Given the description of an element on the screen output the (x, y) to click on. 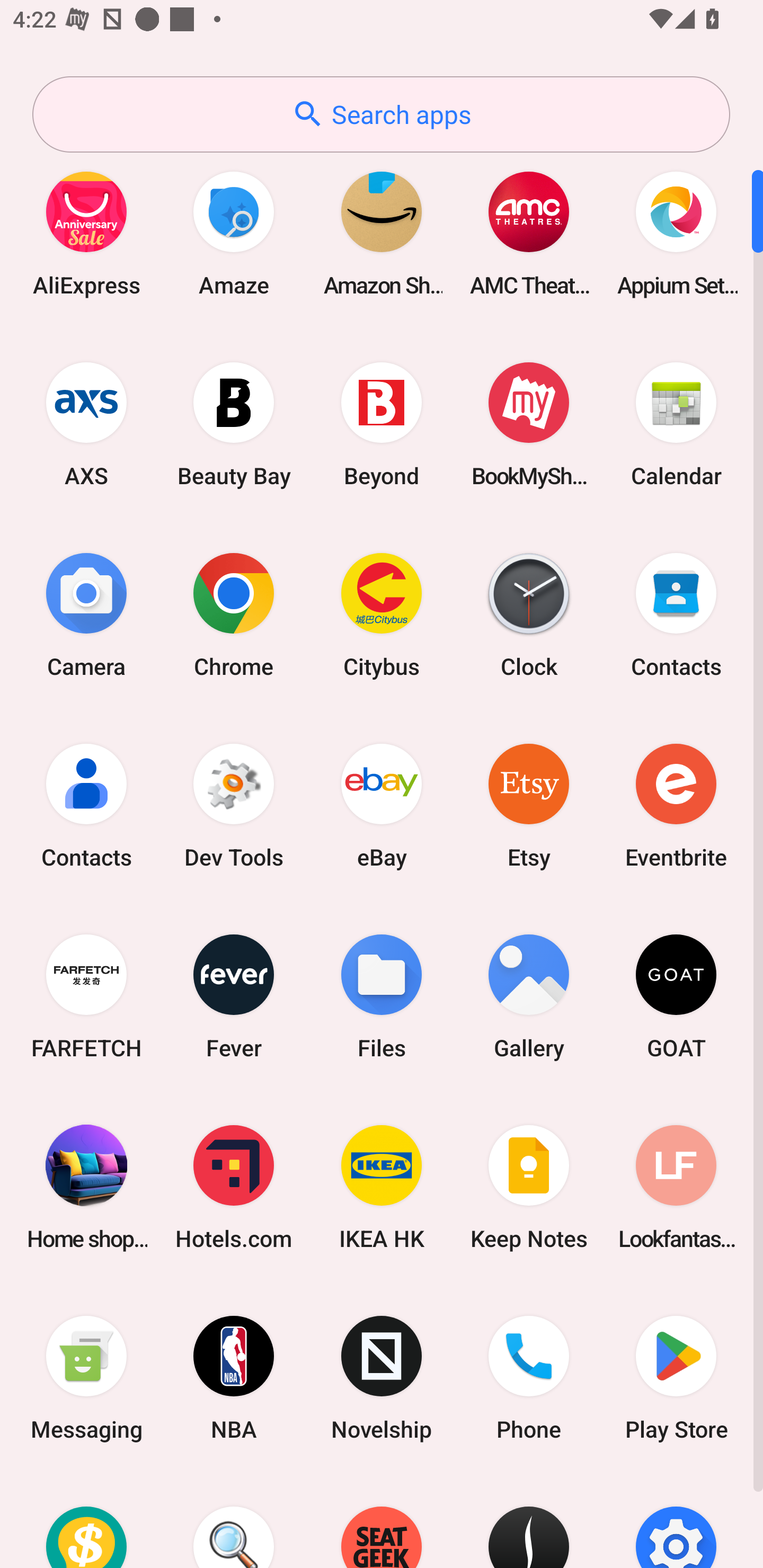
  Search apps (381, 114)
AliExpress (86, 233)
Amaze (233, 233)
Amazon Shopping (381, 233)
AMC Theatres (528, 233)
Appium Settings (676, 233)
AXS (86, 424)
Beauty Bay (233, 424)
Beyond (381, 424)
BookMyShow (528, 424)
Calendar (676, 424)
Camera (86, 614)
Chrome (233, 614)
Citybus (381, 614)
Clock (528, 614)
Contacts (676, 614)
Contacts (86, 805)
Dev Tools (233, 805)
eBay (381, 805)
Etsy (528, 805)
Eventbrite (676, 805)
FARFETCH (86, 996)
Fever (233, 996)
Files (381, 996)
Gallery (528, 996)
GOAT (676, 996)
Home shopping (86, 1186)
Hotels.com (233, 1186)
IKEA HK (381, 1186)
Keep Notes (528, 1186)
Lookfantastic (676, 1186)
Messaging (86, 1377)
NBA (233, 1377)
Novelship (381, 1377)
Phone (528, 1377)
Play Store (676, 1377)
Price (86, 1520)
Search (233, 1520)
SeatGeek (381, 1520)
Sephora (528, 1520)
Settings (676, 1520)
